Given the description of an element on the screen output the (x, y) to click on. 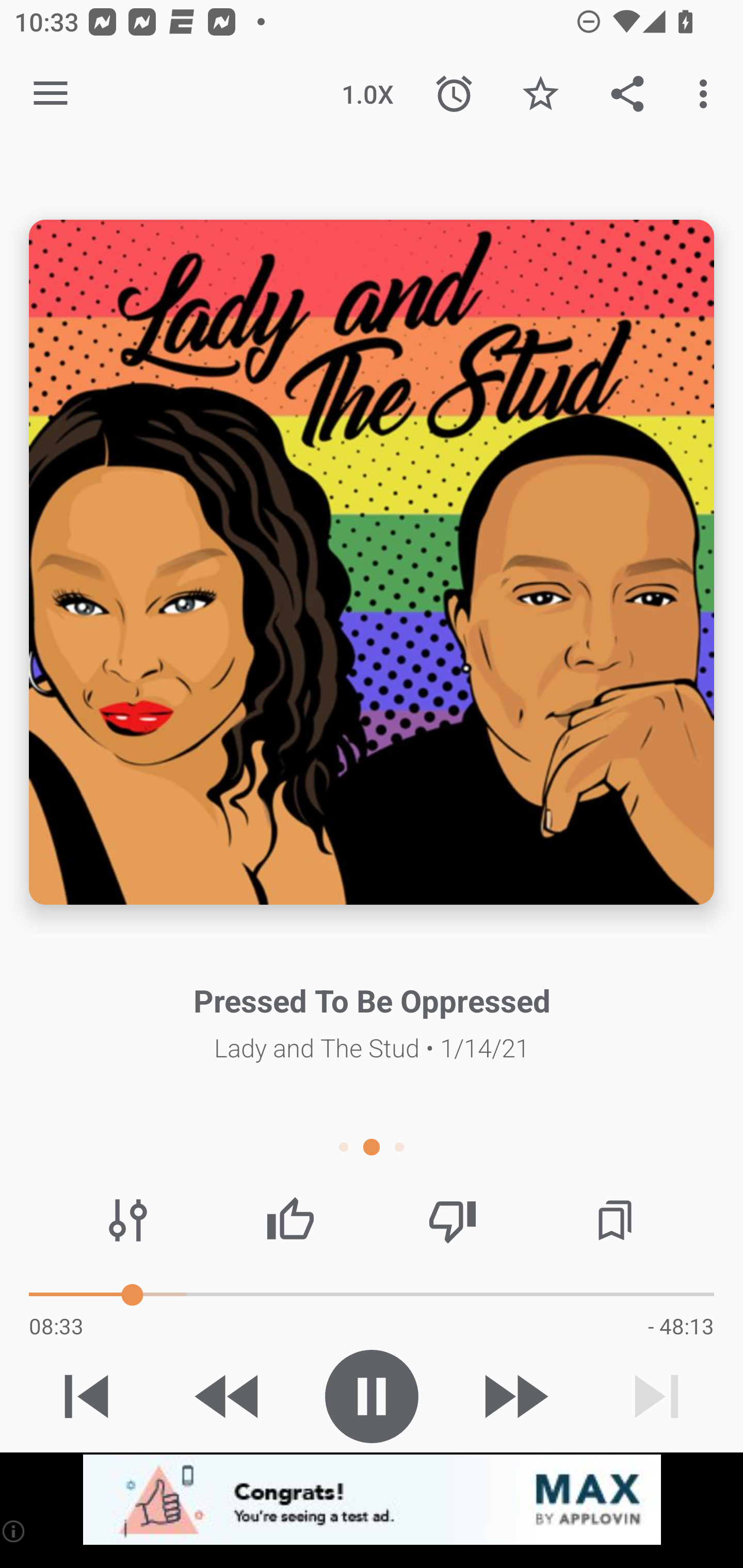
Open navigation sidebar (50, 93)
1.0X (366, 93)
Sleep Timer (453, 93)
Favorite (540, 93)
Share (626, 93)
More options (706, 93)
Episode description (371, 561)
Audio effects (127, 1220)
Thumbs up (290, 1220)
Thumbs down (452, 1220)
Chapters / Bookmarks (614, 1220)
- 48:13 (680, 1325)
Previous track (86, 1395)
Skip 15s backward (228, 1395)
Play / Pause (371, 1395)
Skip 30s forward (513, 1395)
Next track (656, 1395)
app-monetization (371, 1500)
(i) (14, 1531)
